Given the description of an element on the screen output the (x, y) to click on. 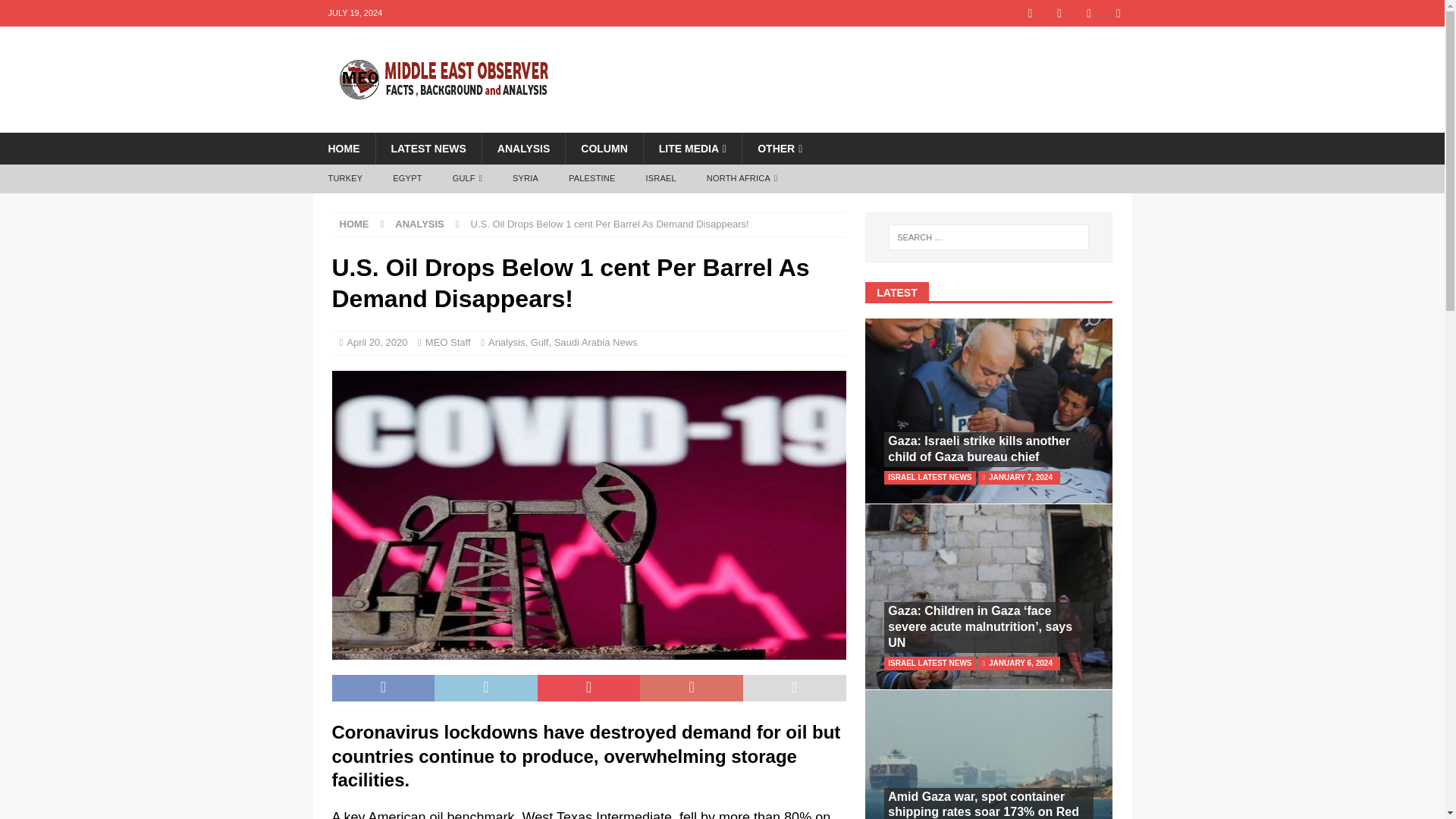
HOME (343, 148)
LITE MEDIA (692, 148)
LATEST NEWS (427, 148)
GULF (467, 178)
OTHER (778, 148)
EGYPT (406, 178)
COLUMN (603, 148)
TURKEY (345, 178)
ANALYSIS (523, 148)
